Given the description of an element on the screen output the (x, y) to click on. 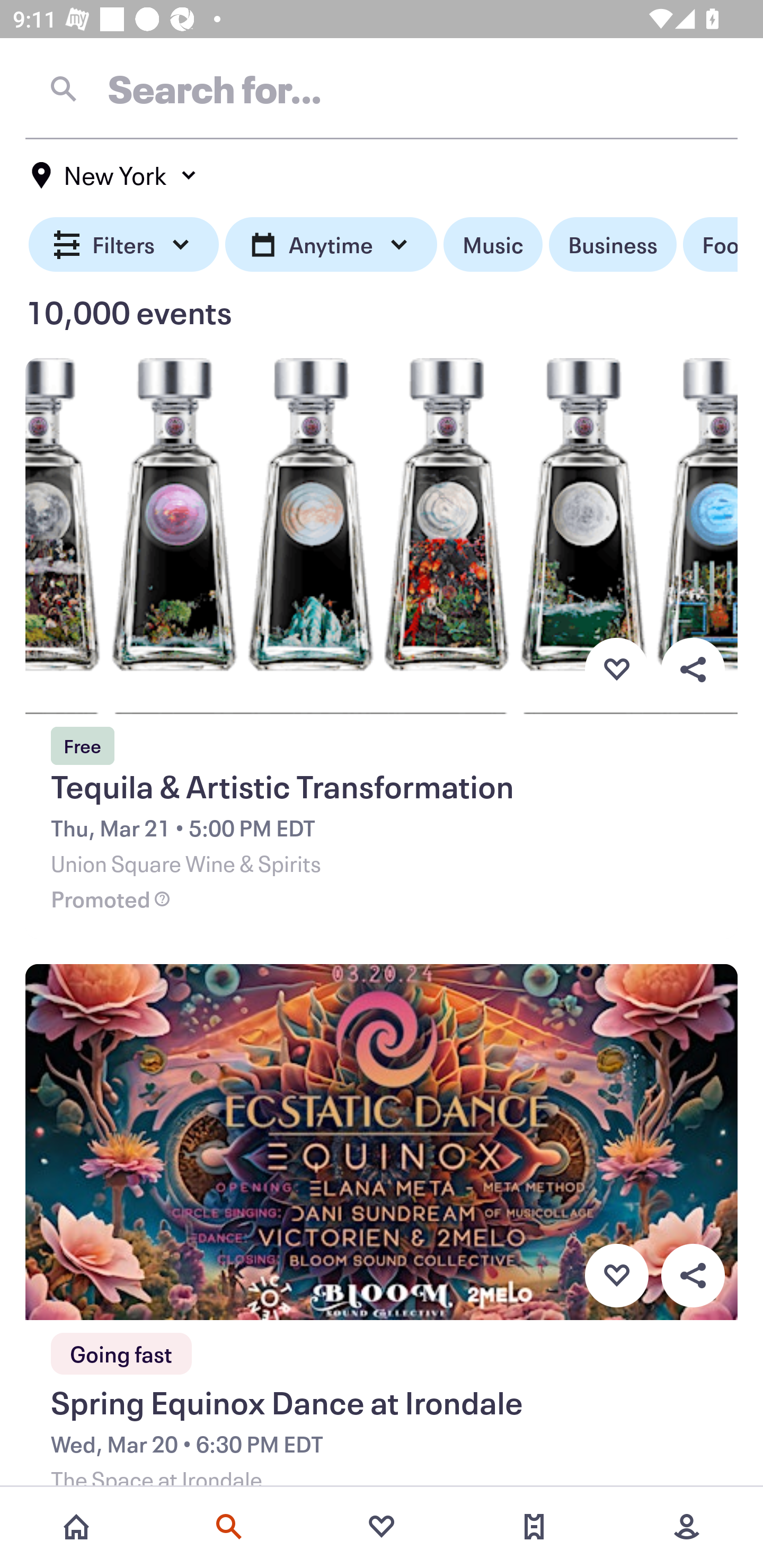
Search for… (381, 88)
New York (114, 175)
Filters (123, 244)
Anytime (331, 244)
Music (492, 244)
Business (612, 244)
Favorite button (616, 669)
Overflow menu button (692, 669)
Favorite button (616, 1275)
Overflow menu button (692, 1275)
Home (76, 1526)
Search events (228, 1526)
Favorites (381, 1526)
Tickets (533, 1526)
More (686, 1526)
